Given the description of an element on the screen output the (x, y) to click on. 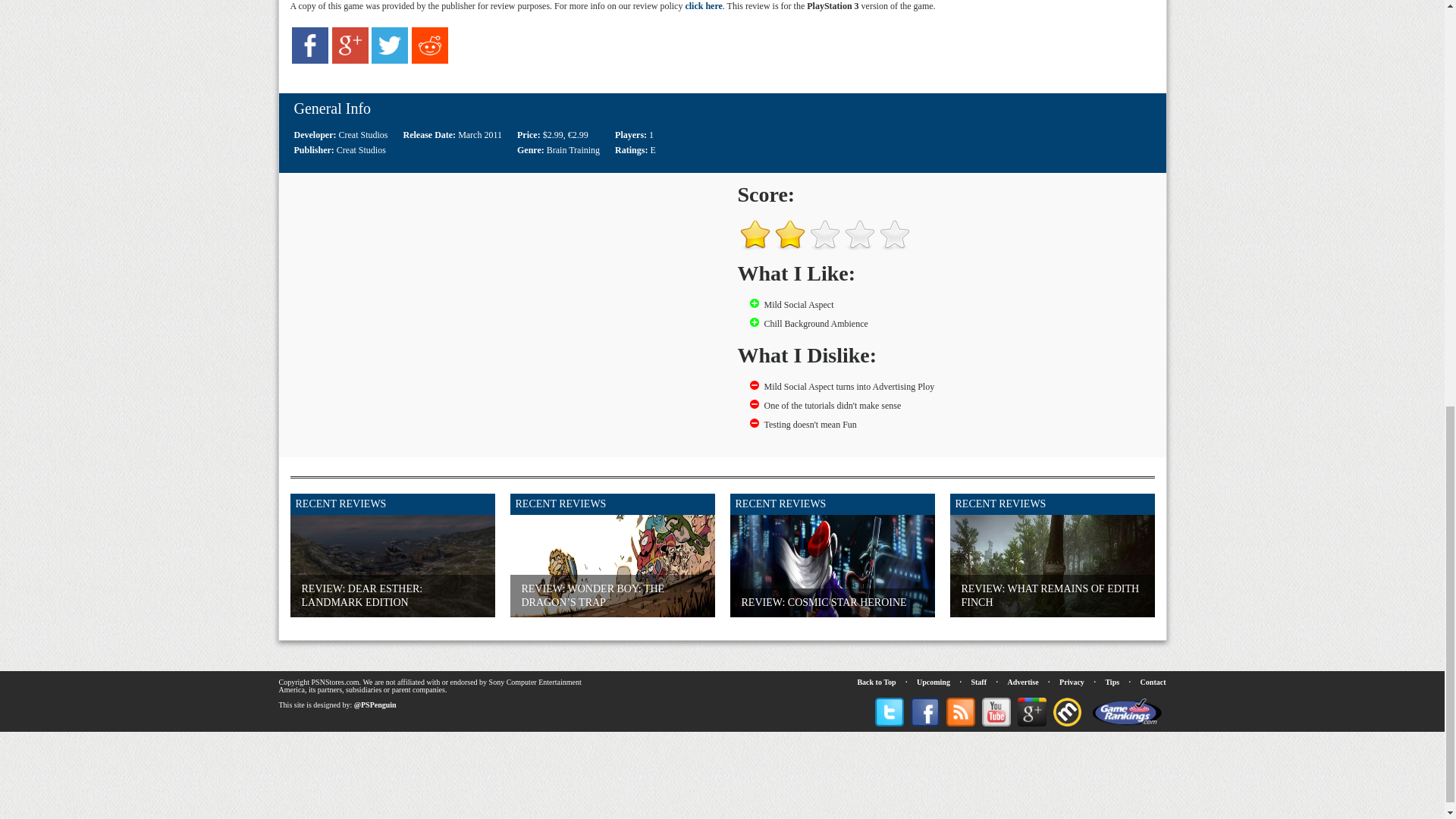
Share via Facebook (310, 60)
Share via Google (349, 60)
Share via Reddit (430, 60)
Share via Twitter (389, 60)
